Given the description of an element on the screen output the (x, y) to click on. 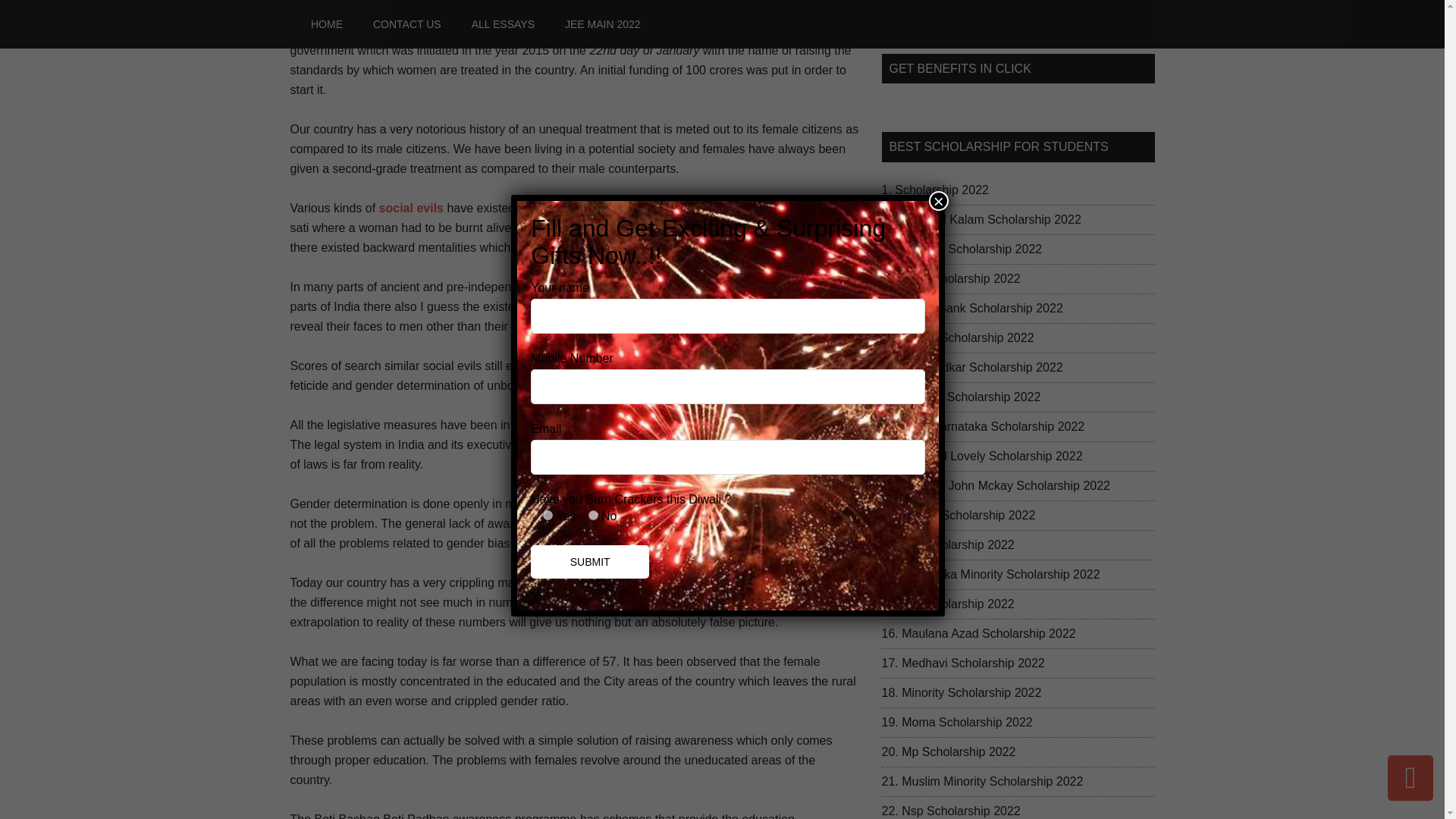
Advertisement (1017, 11)
